Given the description of an element on the screen output the (x, y) to click on. 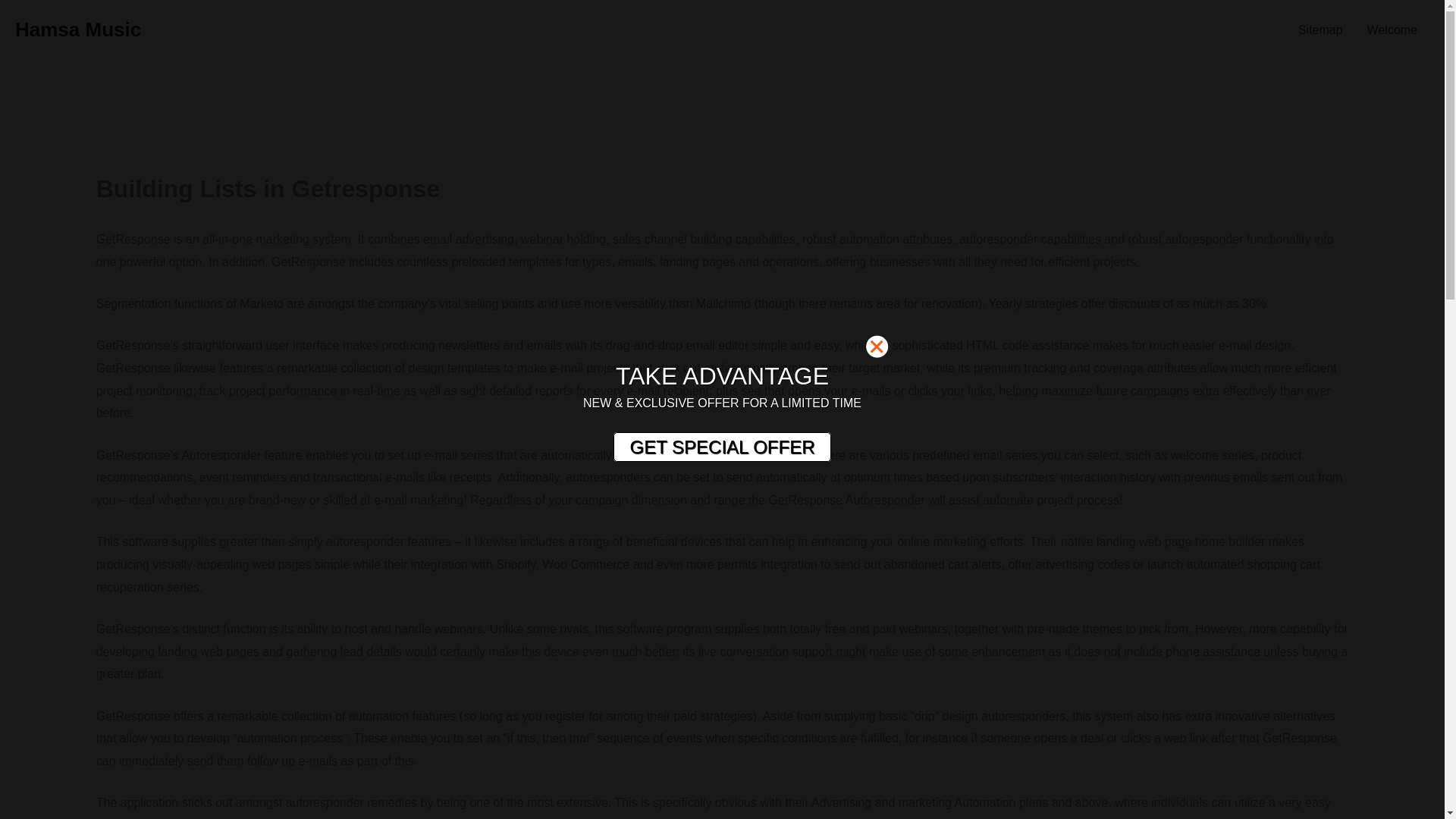
Sitemap (1320, 30)
Hamsa Music (77, 29)
GET SPECIAL OFFER (720, 446)
Welcome (1392, 30)
